Given the description of an element on the screen output the (x, y) to click on. 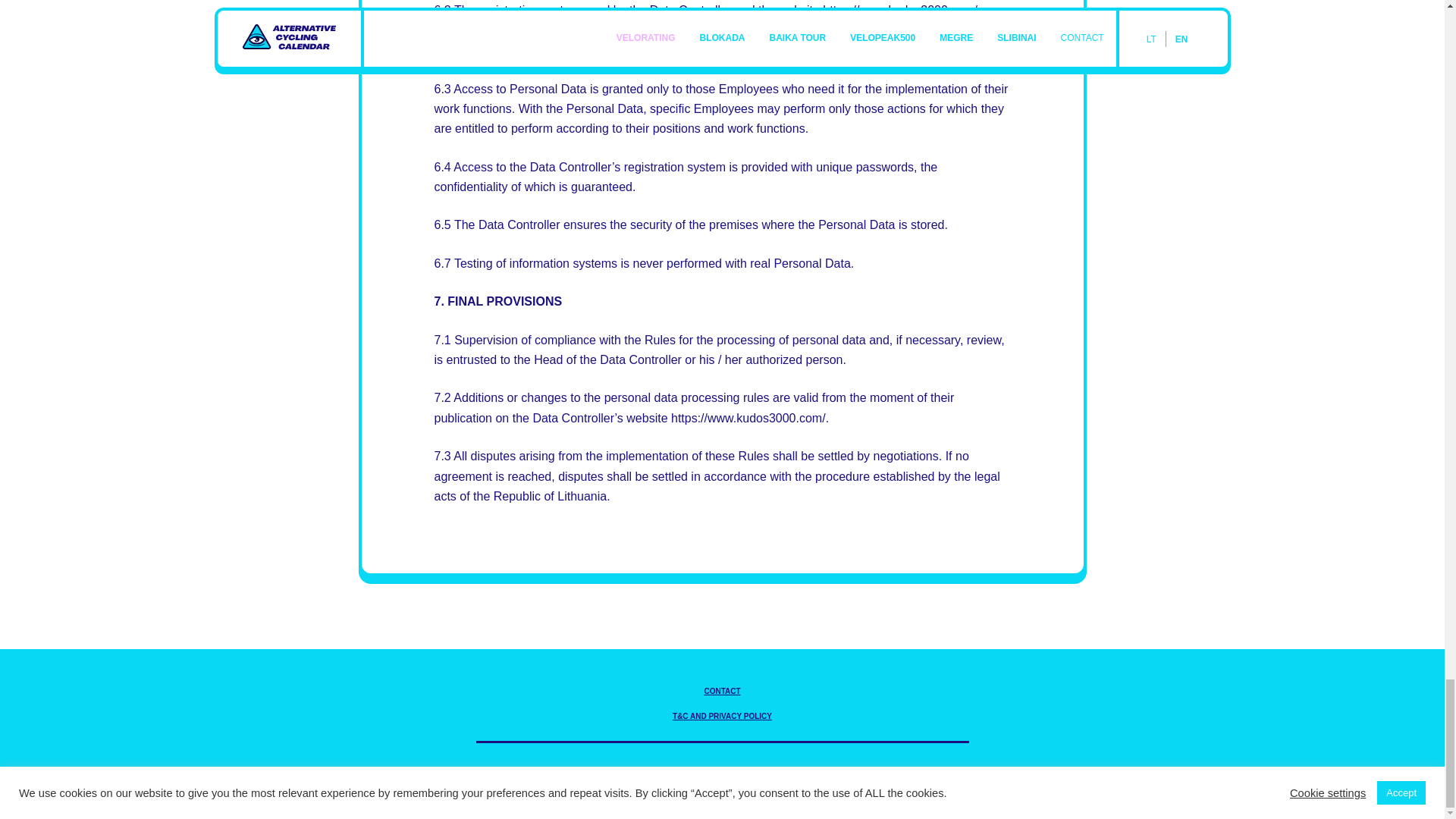
CONTACT (721, 691)
